Given the description of an element on the screen output the (x, y) to click on. 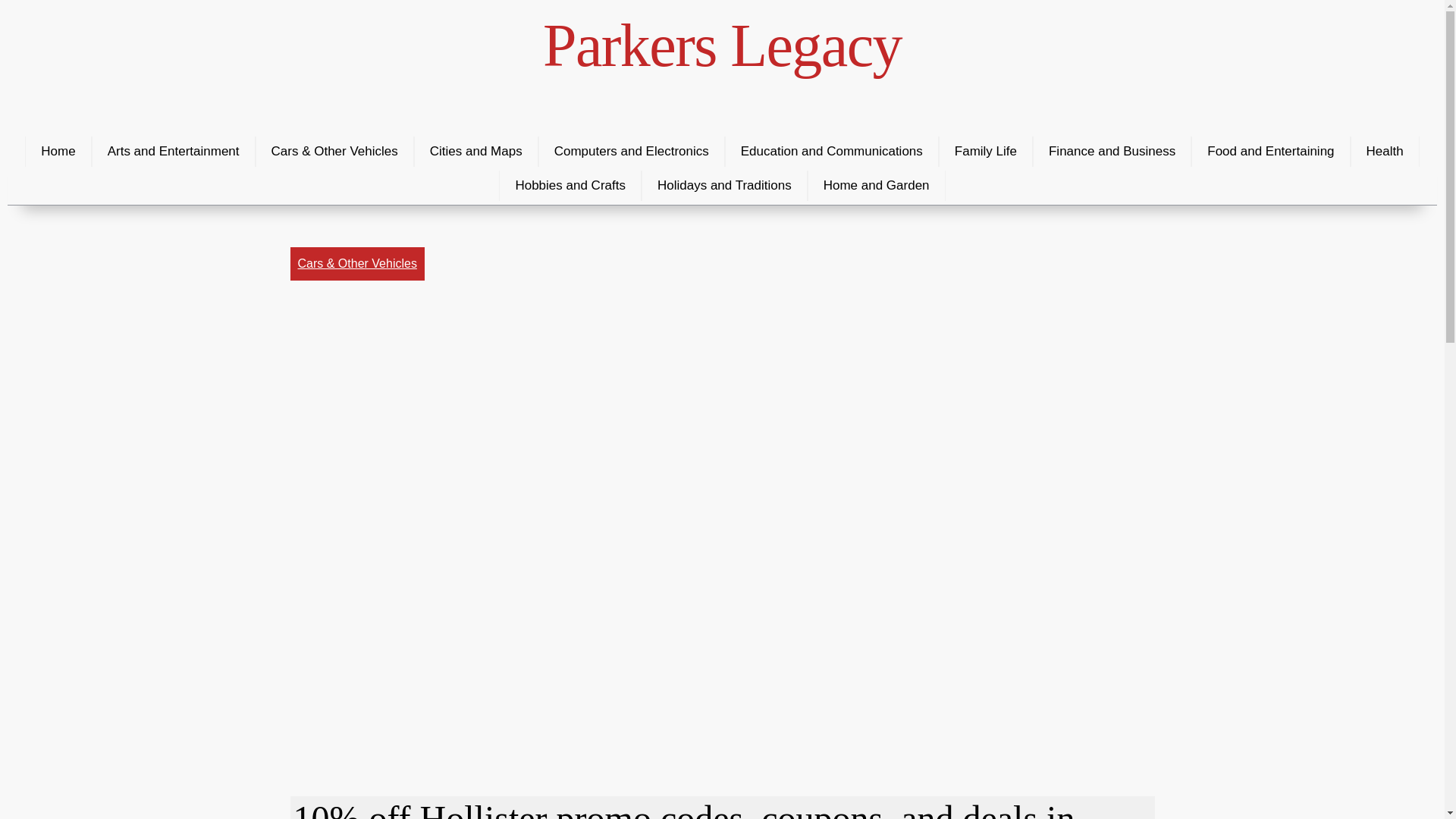
Computers and Electronics (631, 151)
Education and Communications (832, 151)
Holidays and Traditions (725, 185)
Hobbies and Crafts (570, 185)
Health (1385, 151)
Health (1385, 151)
Finance and Business (1111, 151)
City maps (475, 151)
Home and Garden (876, 185)
Computers and Electronics (631, 151)
